Given the description of an element on the screen output the (x, y) to click on. 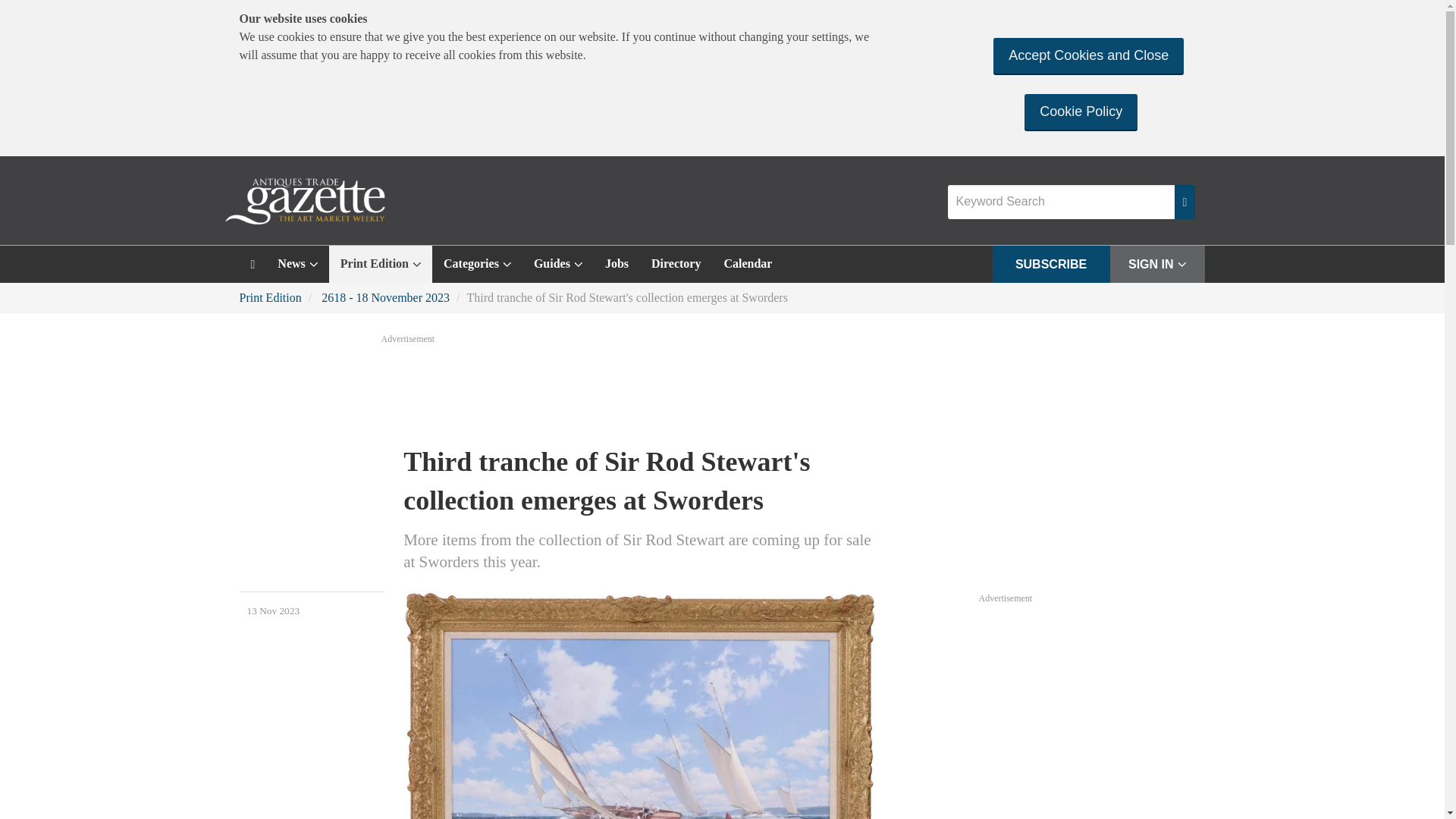
Keyword Search (1060, 202)
3rd party ad content (1091, 712)
Cookie Policy (1081, 111)
News (297, 263)
3rd party ad content (721, 387)
